Given the description of an element on the screen output the (x, y) to click on. 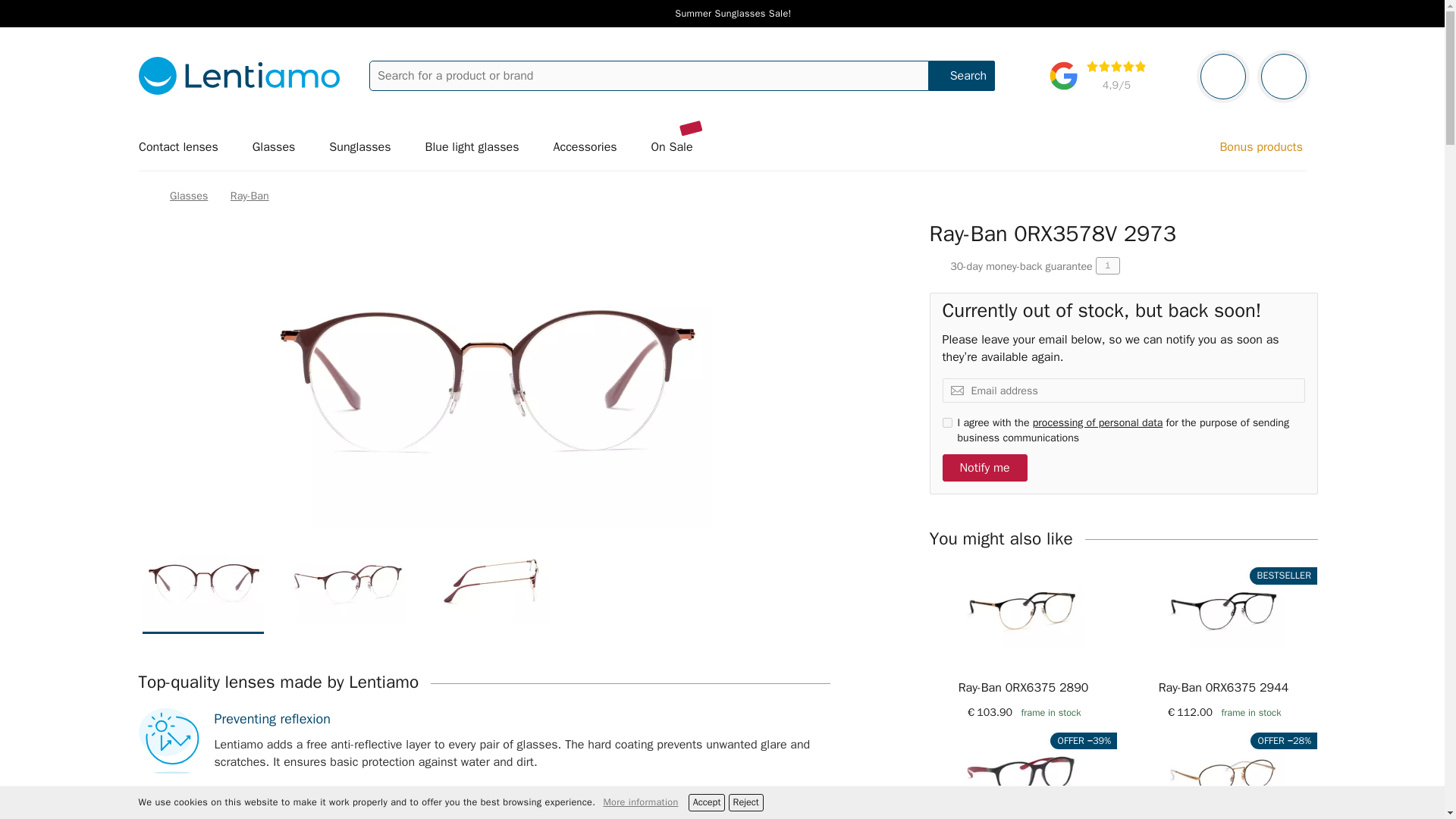
Log in (1221, 76)
More information (640, 802)
Reject (745, 802)
Your basket is empty (1283, 76)
Search (961, 75)
Accept (706, 802)
Contact lenses (183, 147)
1 (947, 422)
